Given the description of an element on the screen output the (x, y) to click on. 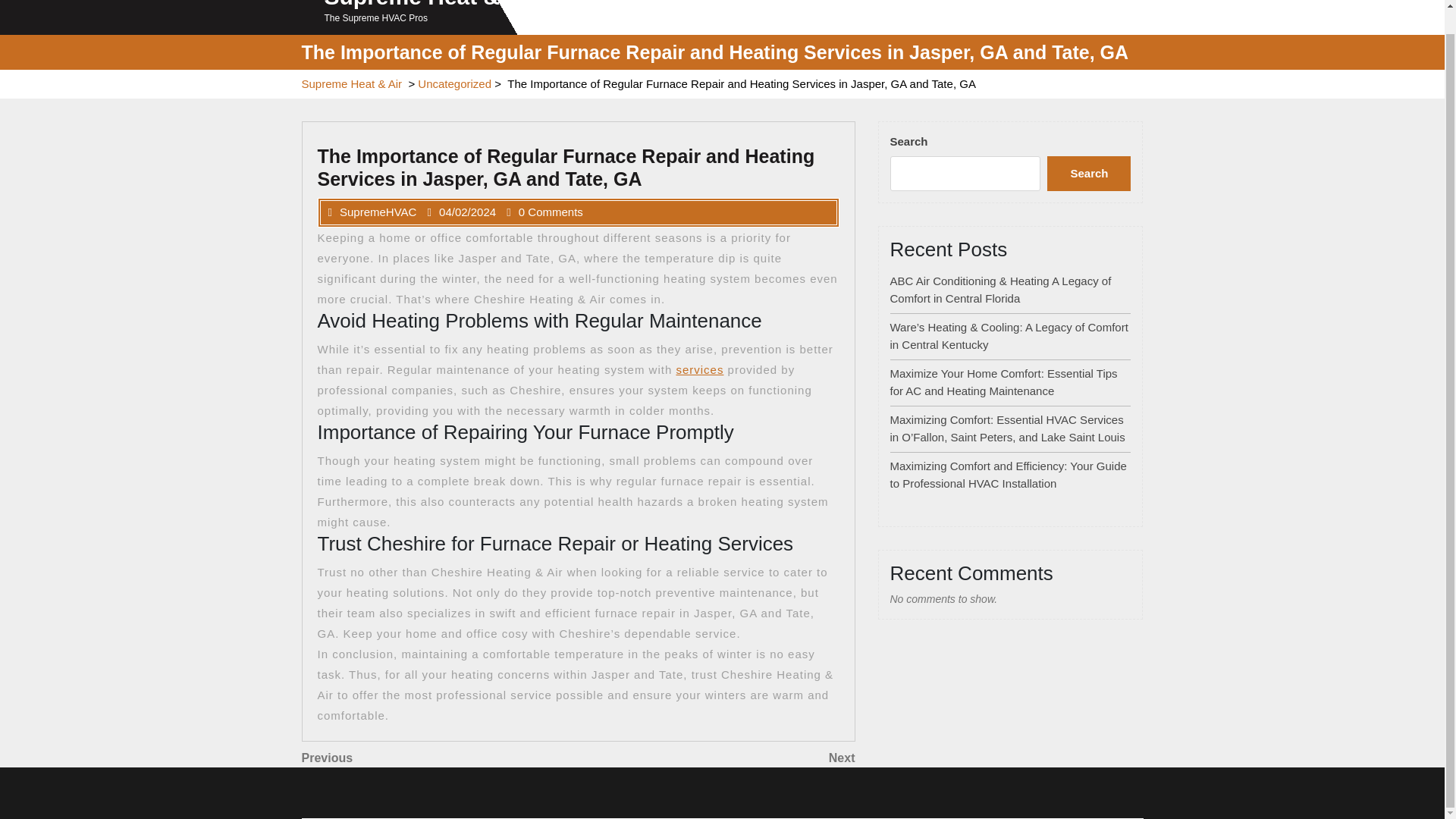
Search (716, 758)
Uncategorized (1088, 173)
services (439, 758)
